Given the description of an element on the screen output the (x, y) to click on. 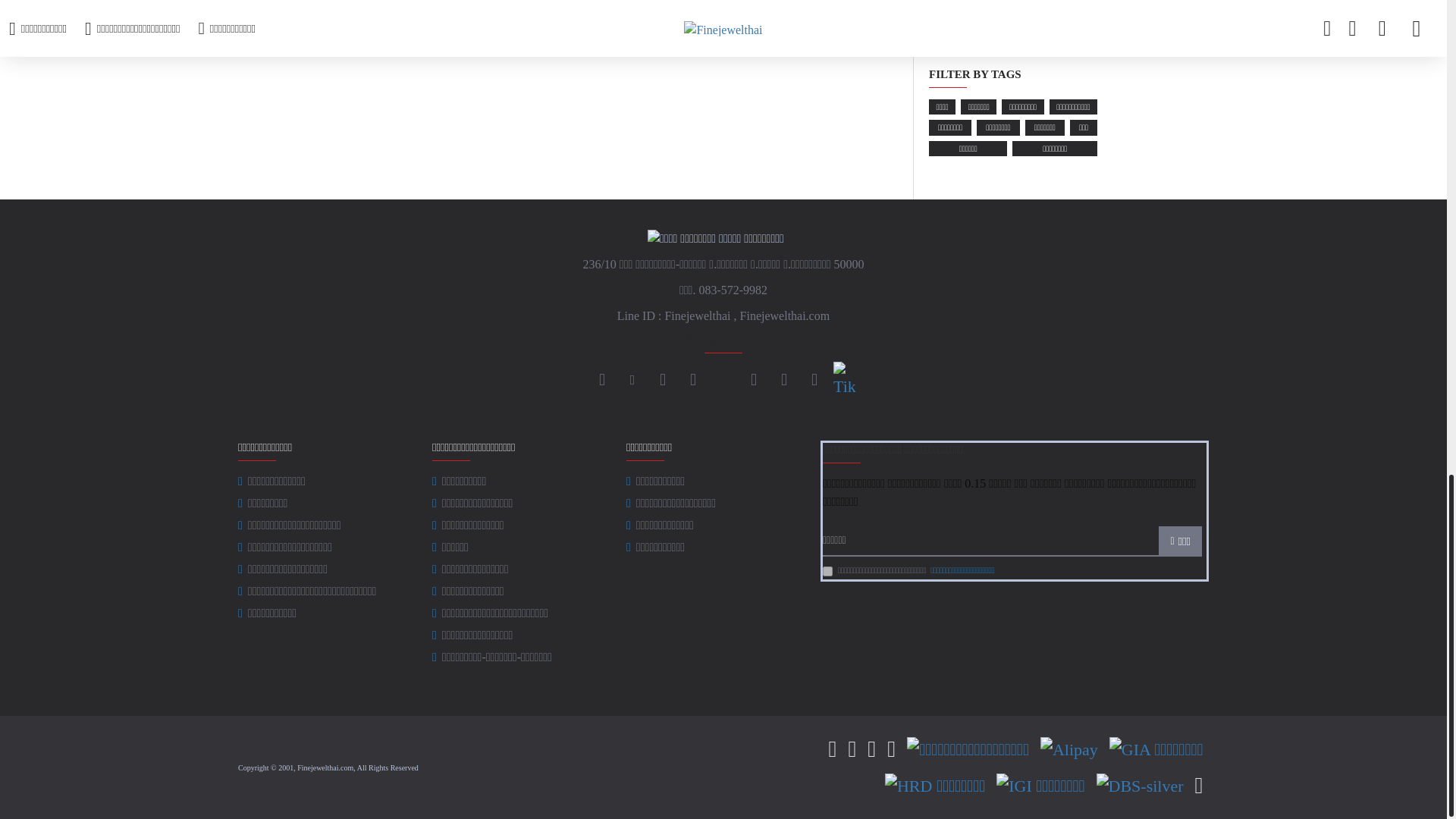
Facebook (601, 379)
Google (783, 379)
IG (632, 379)
Youtube (692, 379)
1 (827, 571)
Twitter (753, 379)
